Given the description of an element on the screen output the (x, y) to click on. 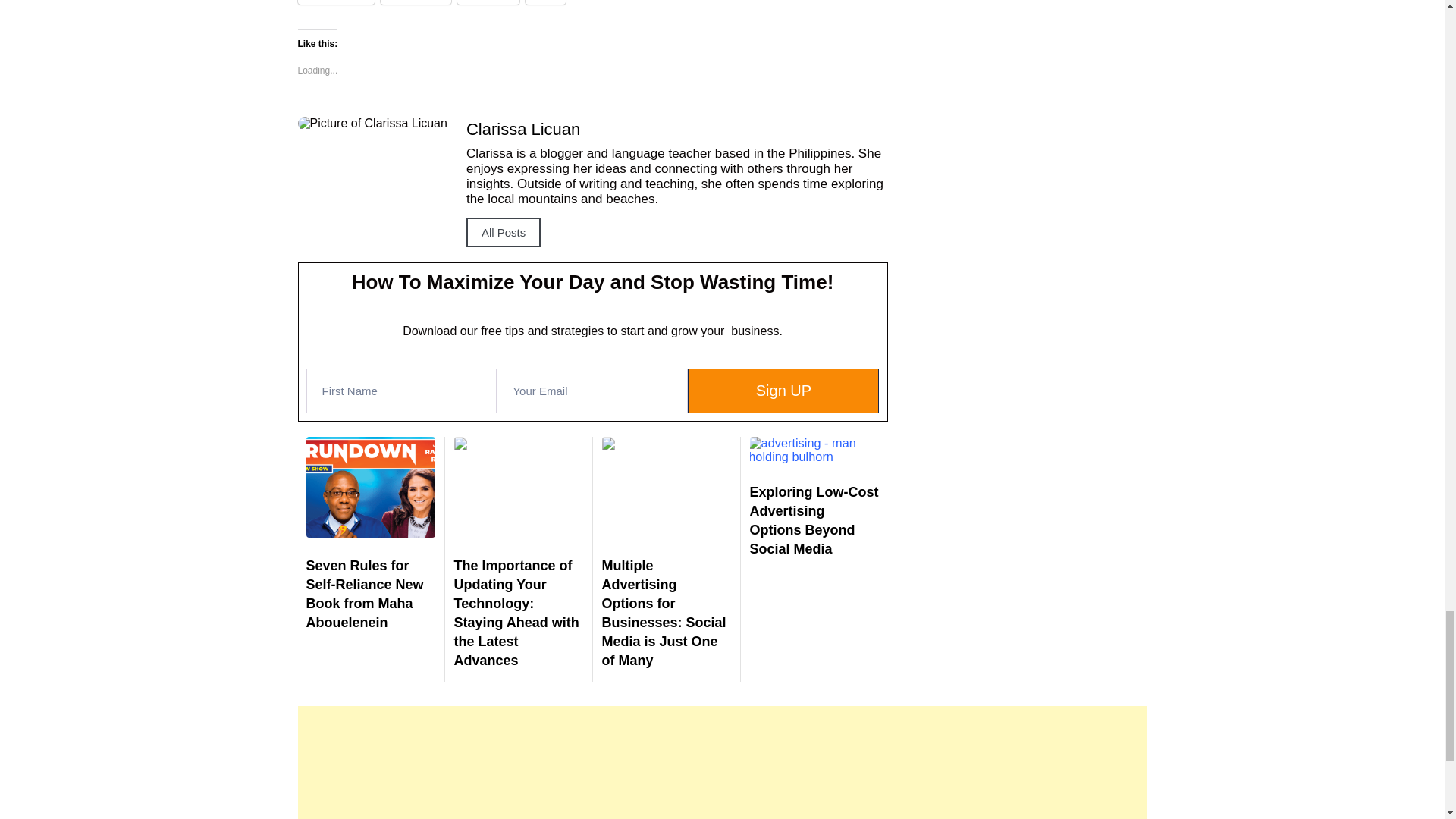
Click to share on Facebook (335, 2)
Sign UP (783, 390)
Seven Rules for Self-Reliance New Book from Maha Abouelenein (364, 593)
Facebook (335, 2)
Exploring Low-Cost Advertising Options Beyond Social Media (813, 520)
All Posts (502, 232)
Click to share on LinkedIn (415, 2)
Click to share on X (545, 2)
